Given the description of an element on the screen output the (x, y) to click on. 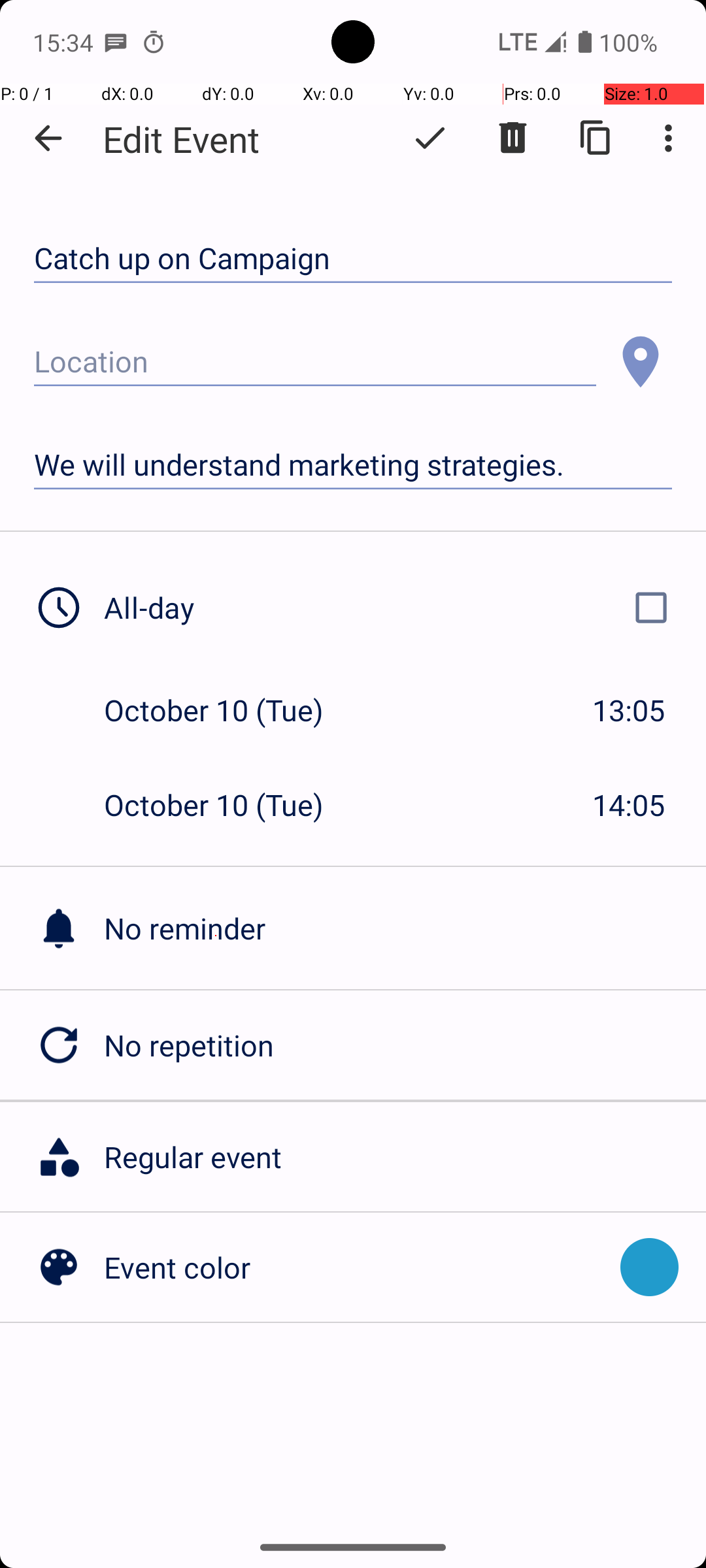
We will understand marketing strategies. Element type: android.widget.EditText (352, 465)
October 10 (Tue) Element type: android.widget.TextView (227, 709)
13:05 Element type: android.widget.TextView (628, 709)
14:05 Element type: android.widget.TextView (628, 804)
